Given the description of an element on the screen output the (x, y) to click on. 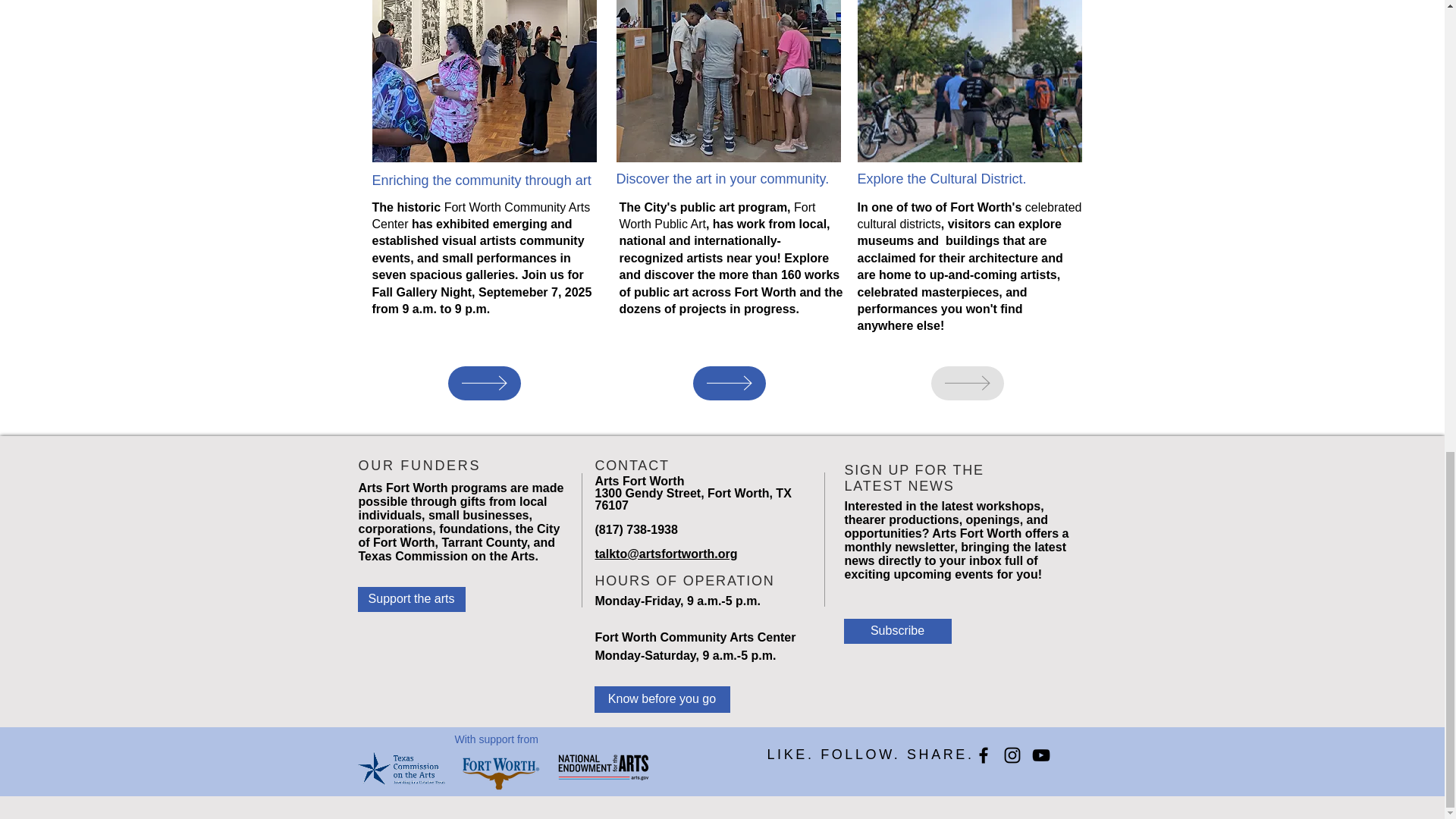
Armando 2.jpg (969, 81)
Armando 2.jpg (727, 81)
Armando 2.jpg (483, 81)
